Given the description of an element on the screen output the (x, y) to click on. 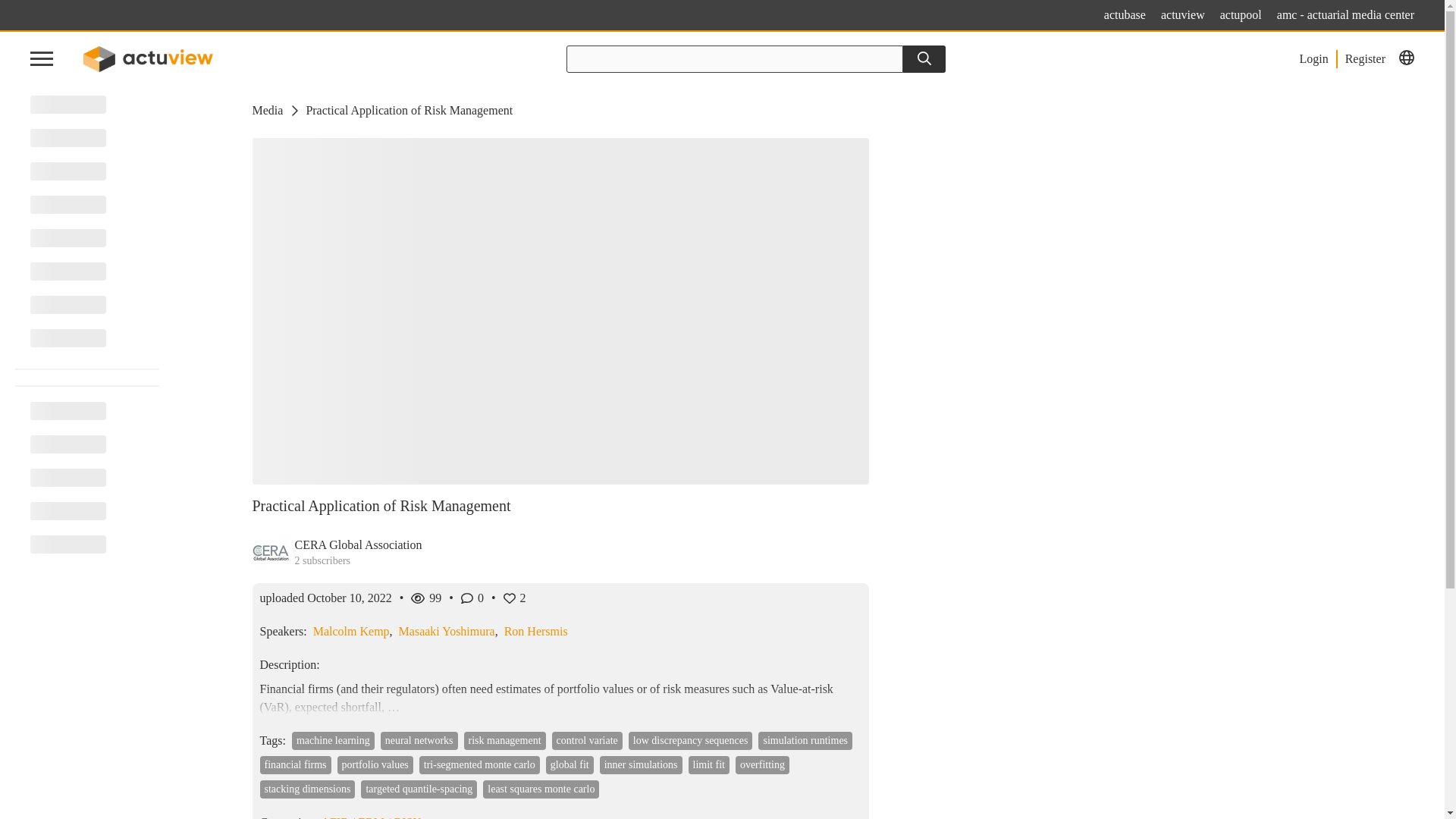
neural networks (419, 741)
simulation runtimes (804, 741)
stacking dimensions (307, 789)
actuview (1182, 14)
least squares monte carlo (540, 789)
targeted quantile-spacing (419, 789)
portfolio values (375, 764)
inner simulations (640, 764)
Ron Hersmis (535, 631)
actubase (1124, 14)
amc - actuarial media center (1344, 14)
global fit (570, 764)
control variate (587, 741)
Masaaki Yoshimura (446, 631)
Media (266, 110)
